Given the description of an element on the screen output the (x, y) to click on. 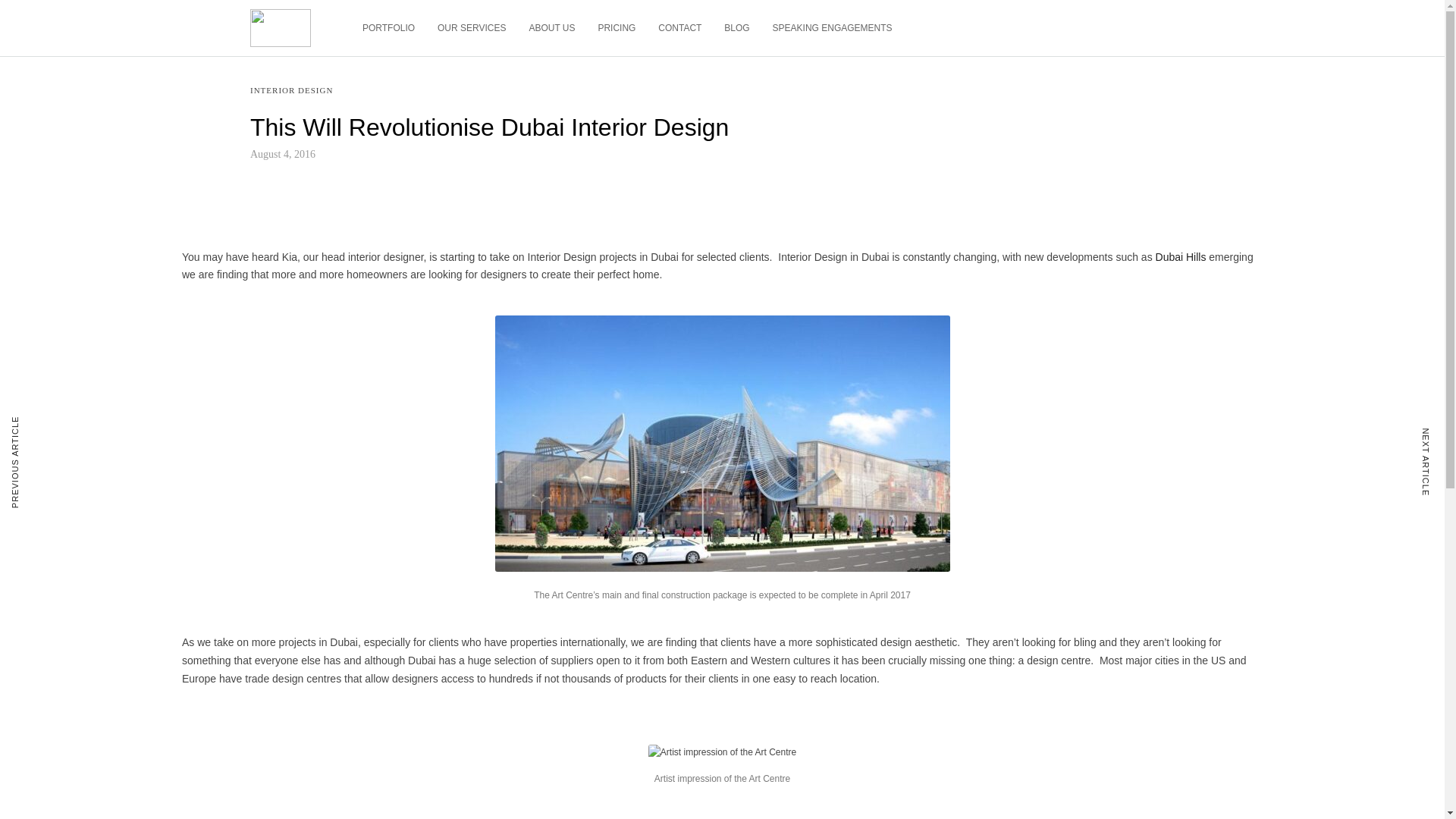
Dubai Hills (1181, 256)
Houzz (265, 561)
CONTACT (679, 28)
Portfolio (269, 191)
SPEAKING ENGAGEMENTS (832, 28)
PREVIOUS ARTICLE (31, 462)
BLOG (736, 28)
Tiktok (264, 596)
FAQ (260, 690)
Pinterest (271, 614)
